Given the description of an element on the screen output the (x, y) to click on. 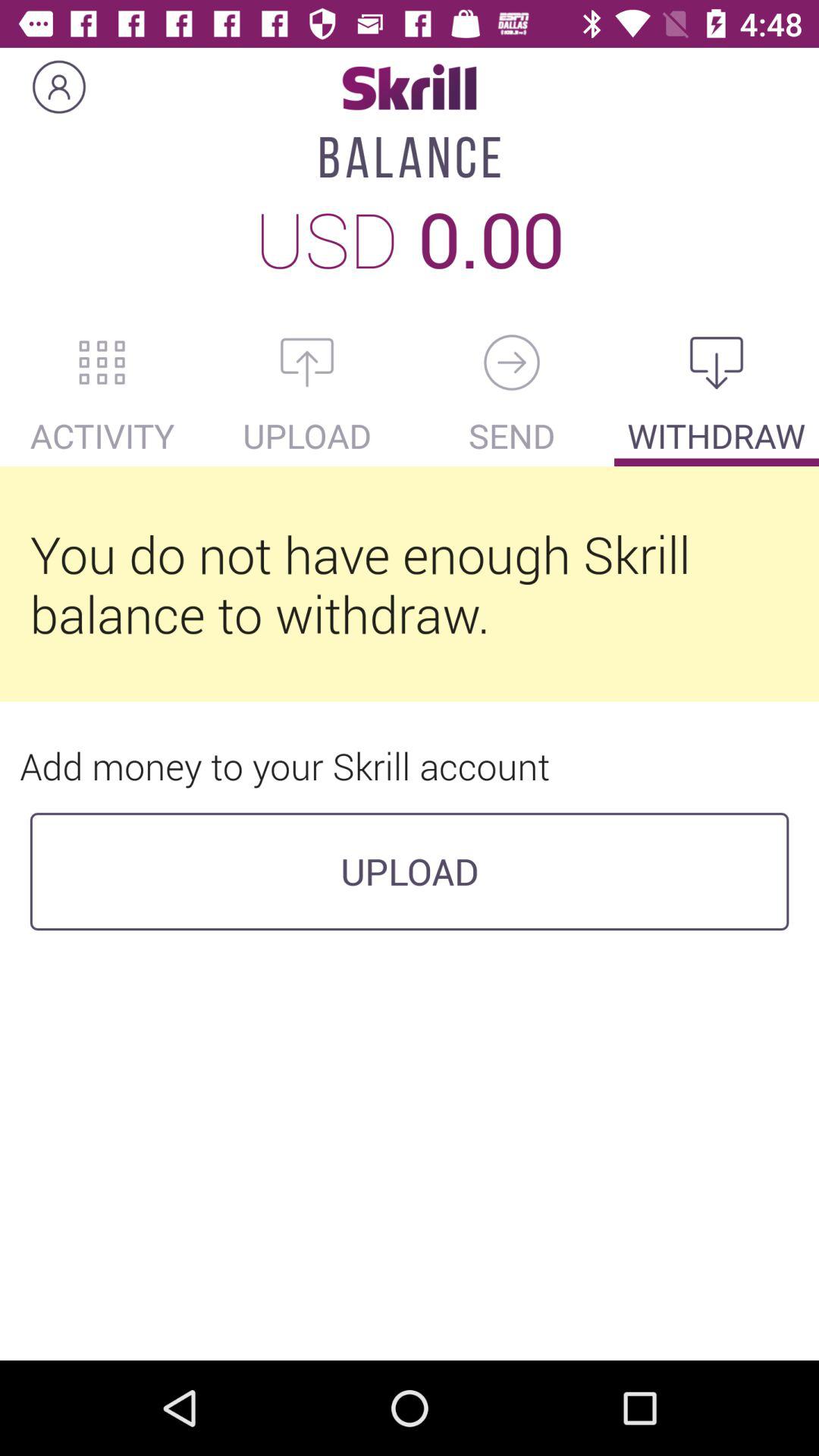
download button (716, 362)
